Given the description of an element on the screen output the (x, y) to click on. 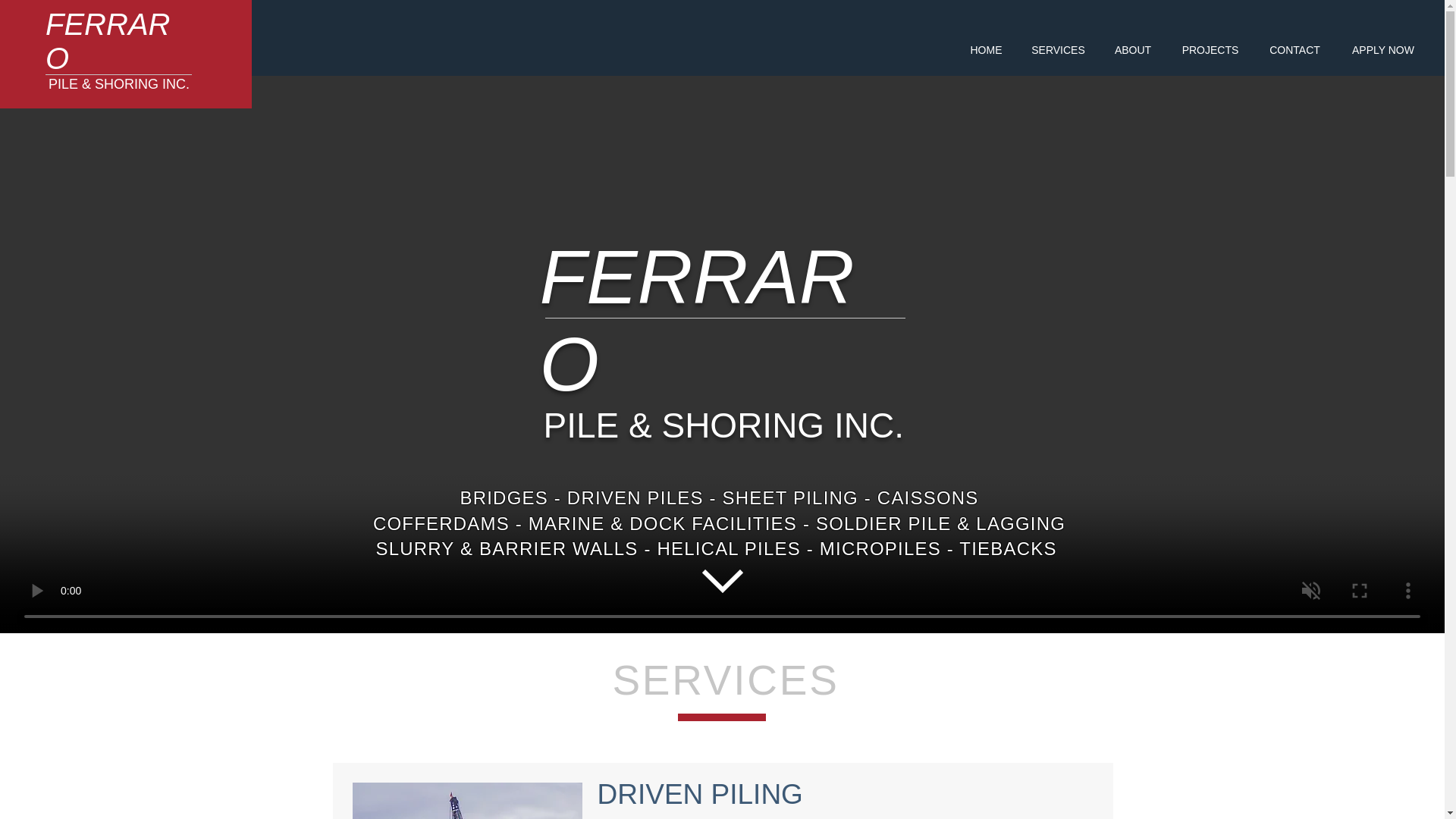
ABOUT (1132, 50)
CONTACT (1294, 50)
PROJECTS (1209, 50)
APPLY NOW (1382, 50)
SERVICES (1057, 50)
HOME (985, 50)
